Given the description of an element on the screen output the (x, y) to click on. 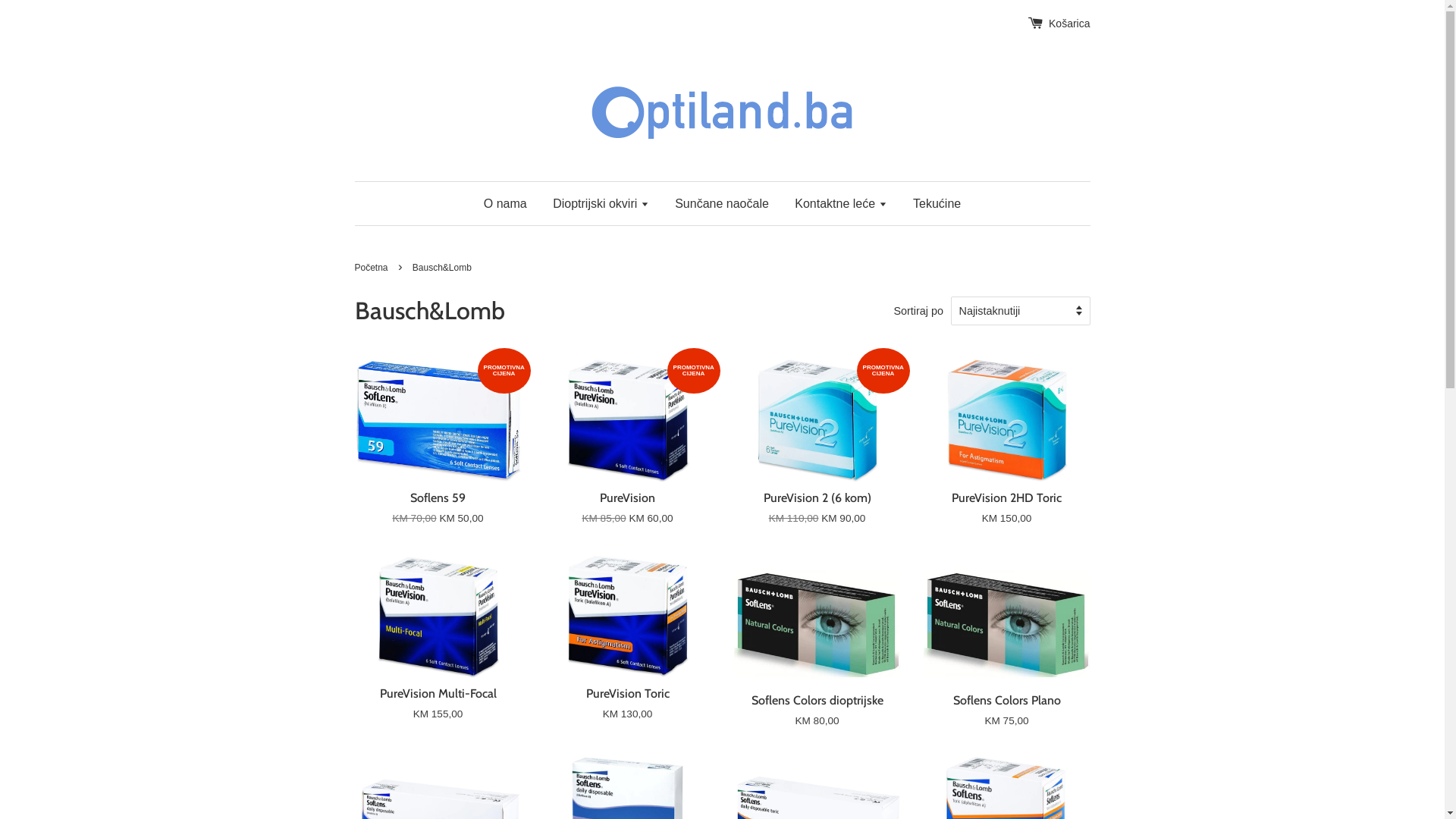
Dioptrijski okviri Element type: text (600, 203)
PureVision Multi-Focal
KM 155,00 Element type: text (437, 650)
PureVision Toric
KM 130,00 Element type: text (627, 650)
PROMOTIVNA CIJENA
PureVision 2 (6 kom)
KM 110,00 KM 90,00 Element type: text (817, 454)
PROMOTIVNA CIJENA
PureVision
KM 85,00 KM 60,00 Element type: text (627, 454)
PureVision 2HD Toric
KM 150,00 Element type: text (1006, 454)
Soflens Colors dioptrijske
KM 80,00 Element type: text (817, 653)
Soflens Colors Plano
KM 75,00 Element type: text (1006, 653)
O nama Element type: text (510, 203)
PROMOTIVNA CIJENA
Soflens 59
KM 70,00 KM 50,00 Element type: text (437, 454)
